Given the description of an element on the screen output the (x, y) to click on. 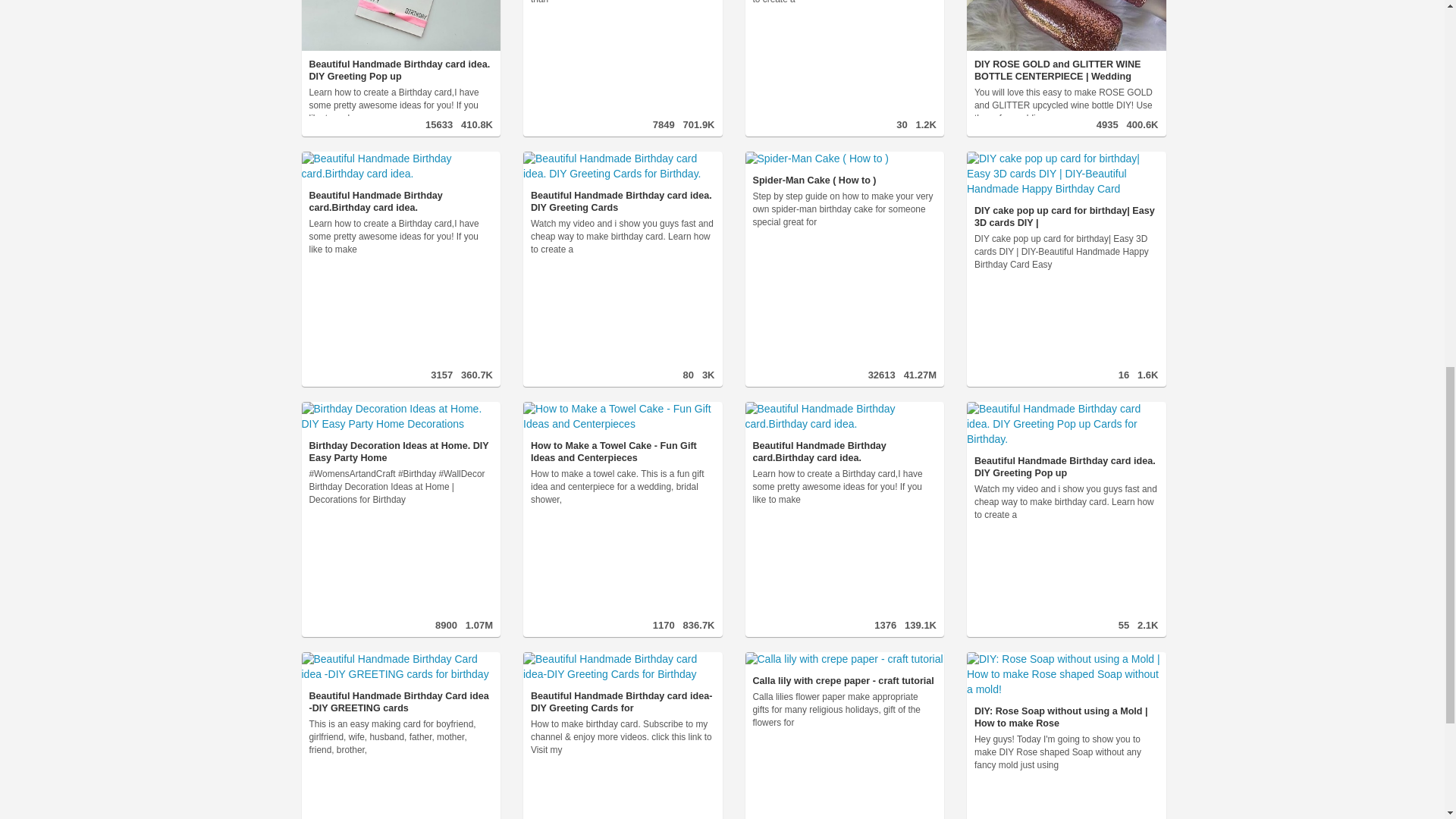
Beautiful Handmade Birthday card idea. DIY Greeting Cards (622, 182)
Birthday Decoration Ideas at Home. DIY Easy Party Home (400, 433)
Beautiful Handmade Birthday card idea. DIY Greeting Pop up (400, 41)
Beautiful Handmade Birthday card idea. DIY Greeting Pop up (1066, 440)
Beautiful Handmade Birthday card.Birthday card idea. (400, 182)
Beautiful Handmade Birthday card.Birthday card idea. (843, 433)
How to Make a Towel Cake - Fun Gift Ideas and Centerpieces (622, 433)
Beautiful Handmade Birthday card.Birthday card idea. (400, 182)
